Given the description of an element on the screen output the (x, y) to click on. 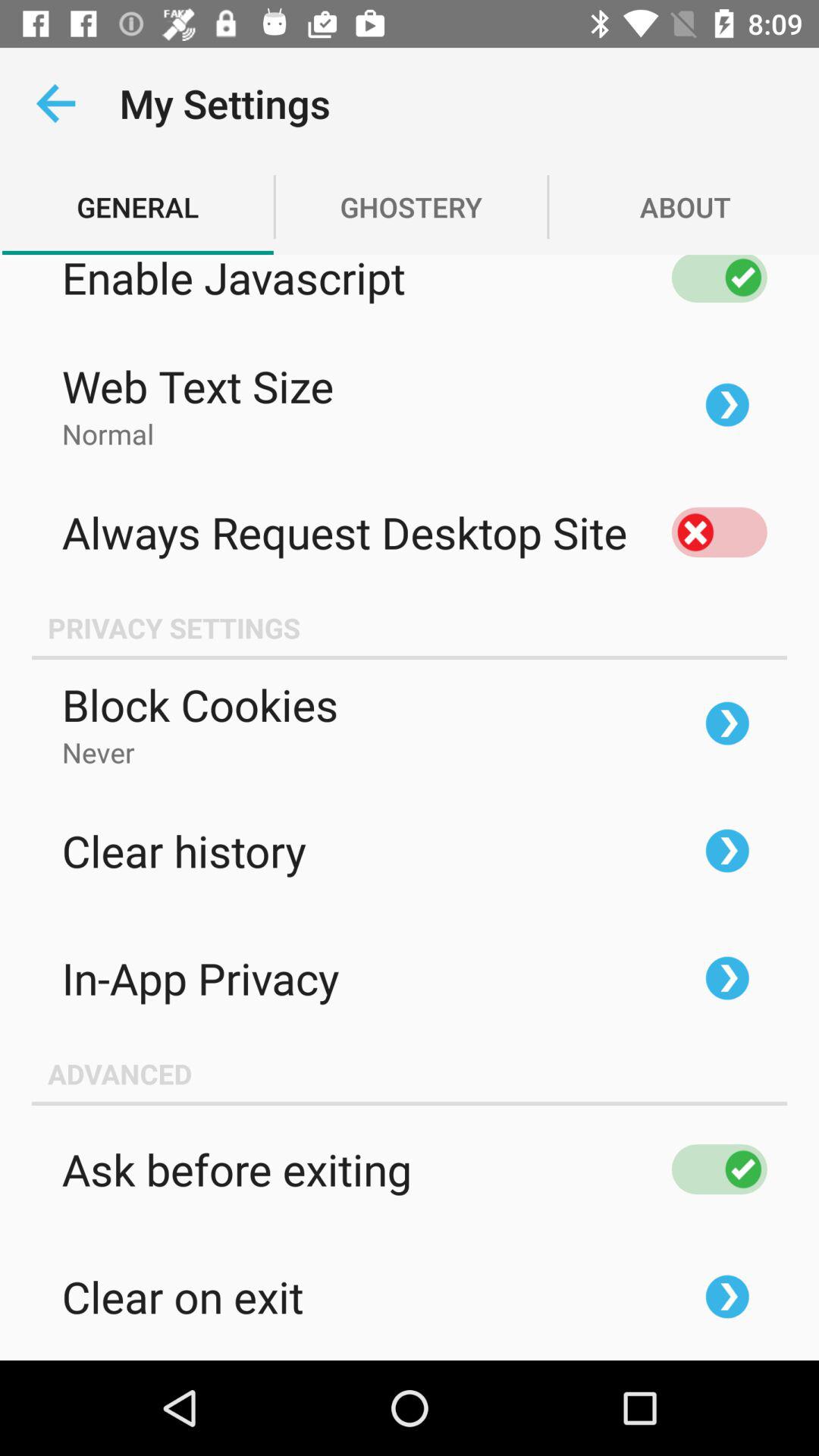
toggle always request desktop site (719, 532)
